Given the description of an element on the screen output the (x, y) to click on. 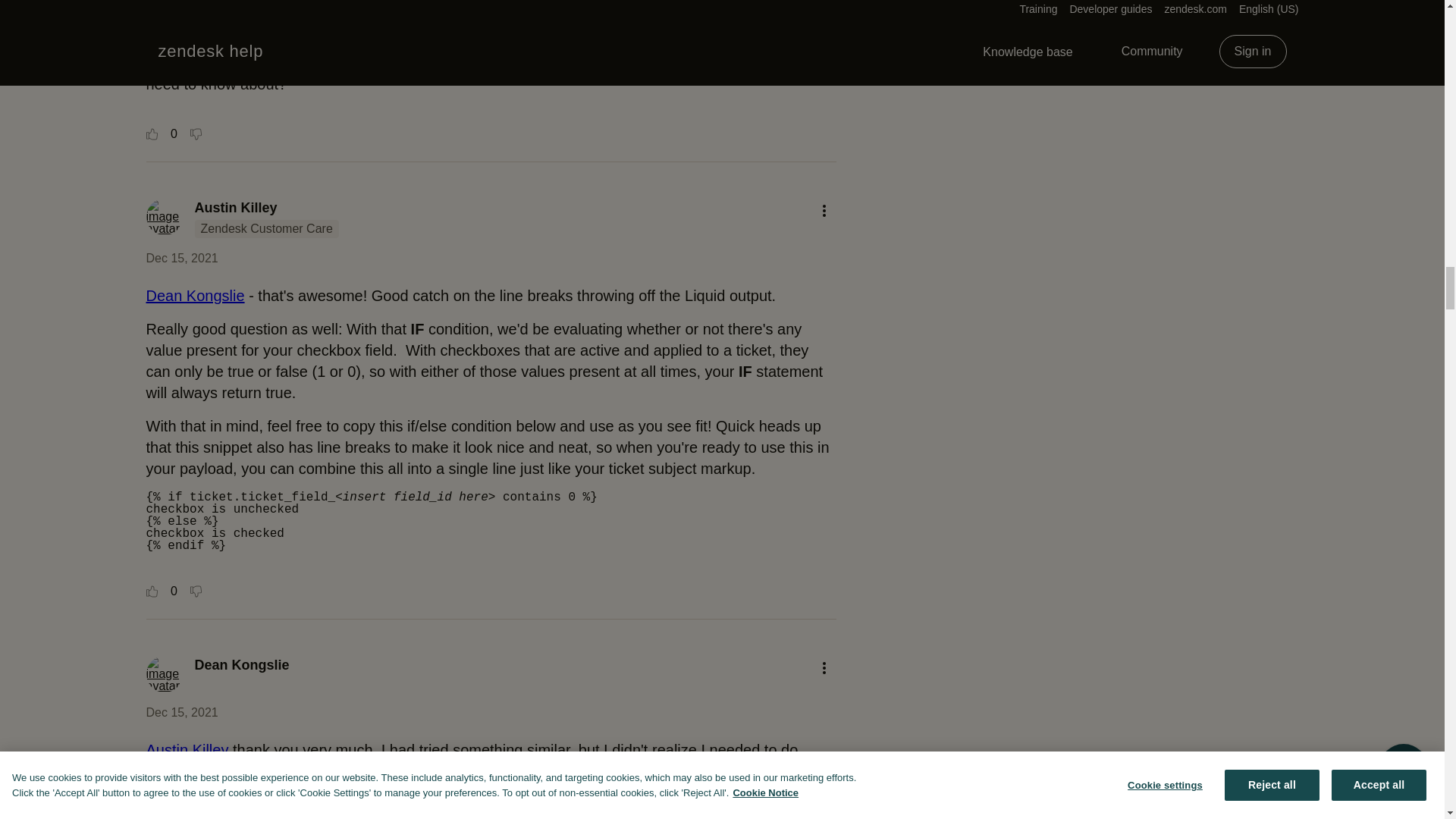
Dec 15, 2021 (180, 257)
Dec 15, 2021 (180, 712)
